Given the description of an element on the screen output the (x, y) to click on. 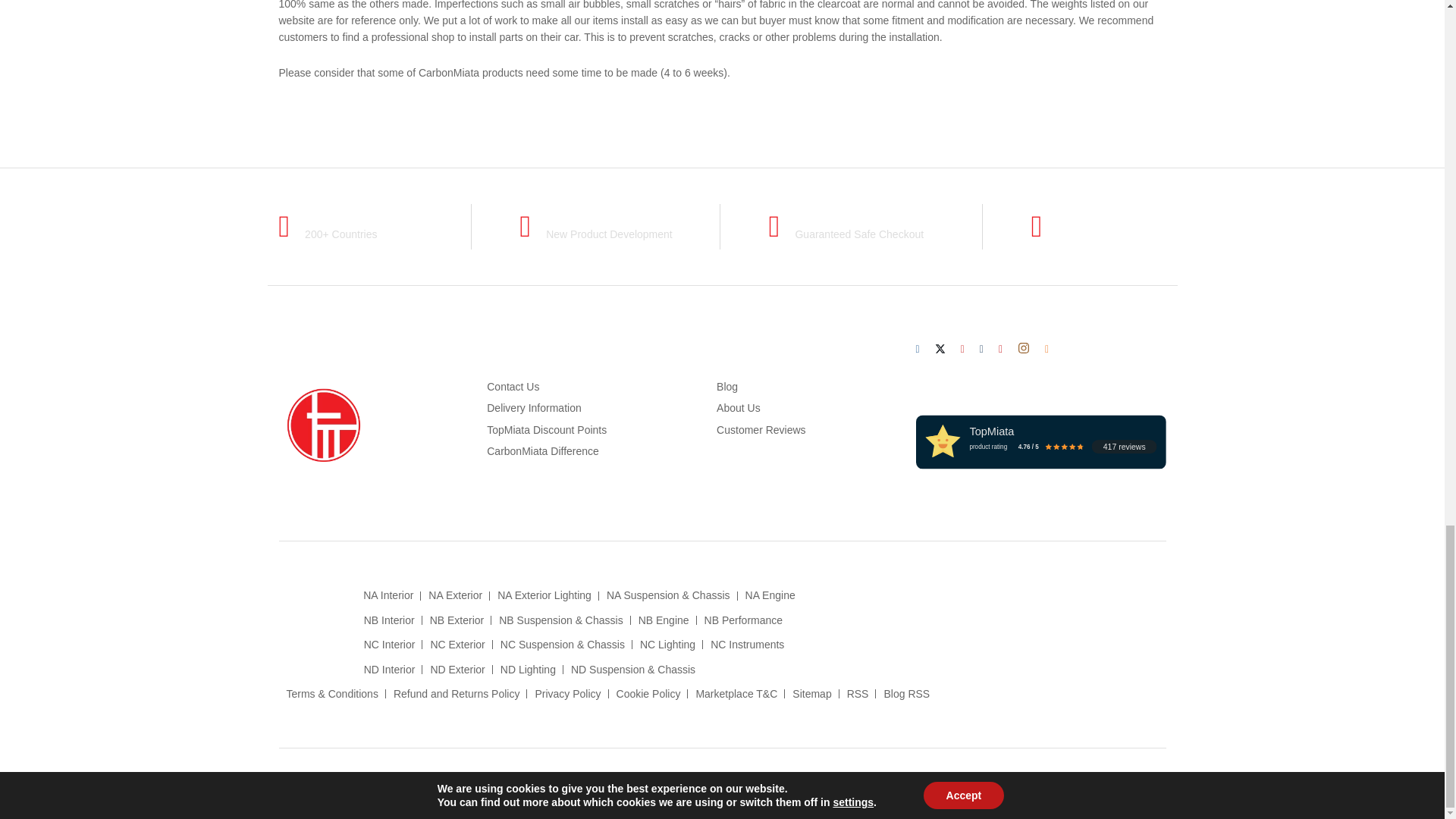
Twitter (940, 348)
Youtube (962, 348)
RSS (1046, 348)
Tumblr (981, 348)
Instagram (1023, 348)
Facebook (917, 348)
Pinterest (1000, 348)
